Given the description of an element on the screen output the (x, y) to click on. 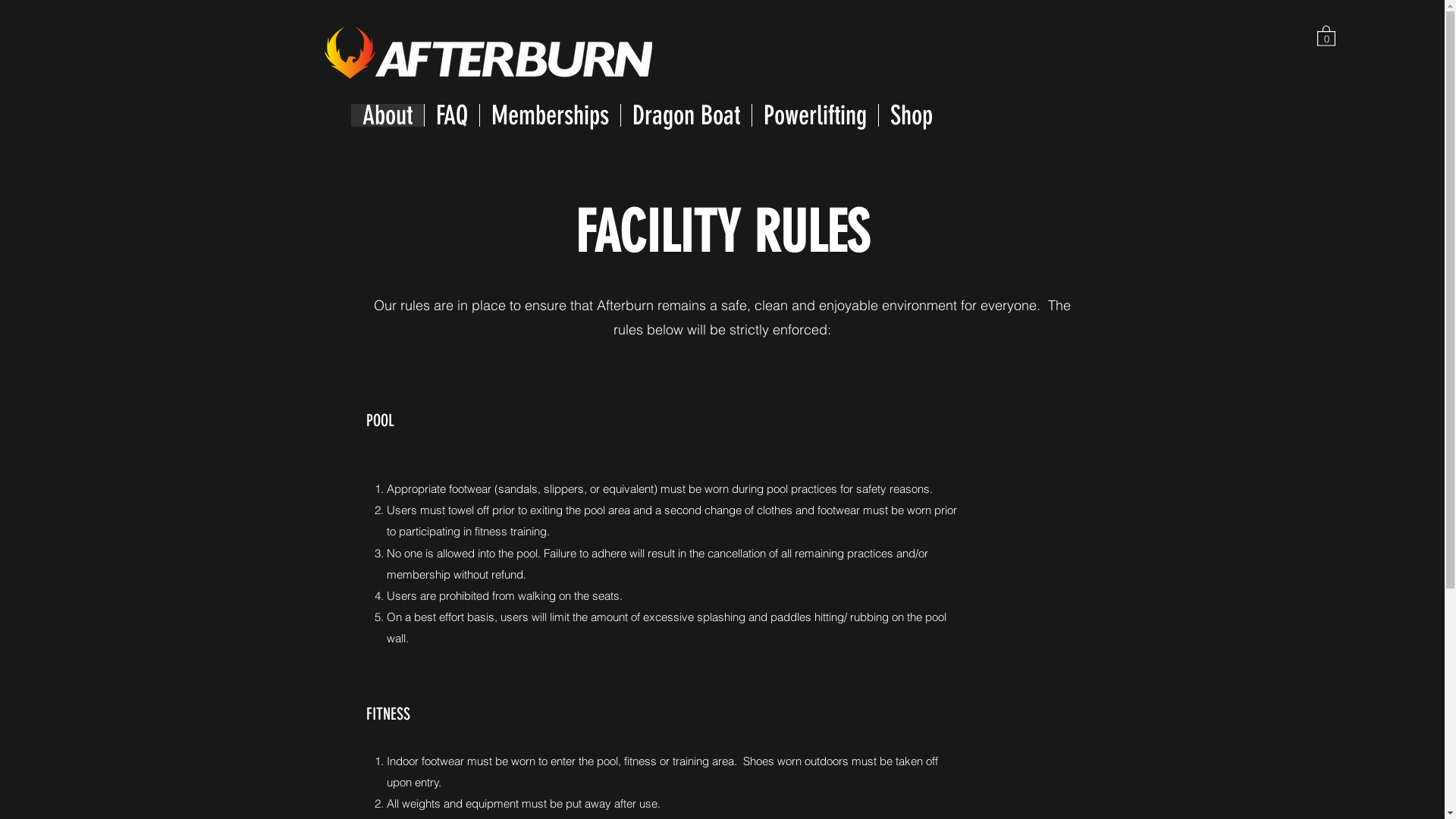
FAQ Element type: text (450, 114)
About Element type: text (386, 114)
Memberships Element type: text (549, 114)
Dragon Boat Element type: text (685, 114)
Powerlifting Element type: text (813, 114)
Shop Element type: text (911, 114)
0 Element type: text (1326, 35)
